Given the description of an element on the screen output the (x, y) to click on. 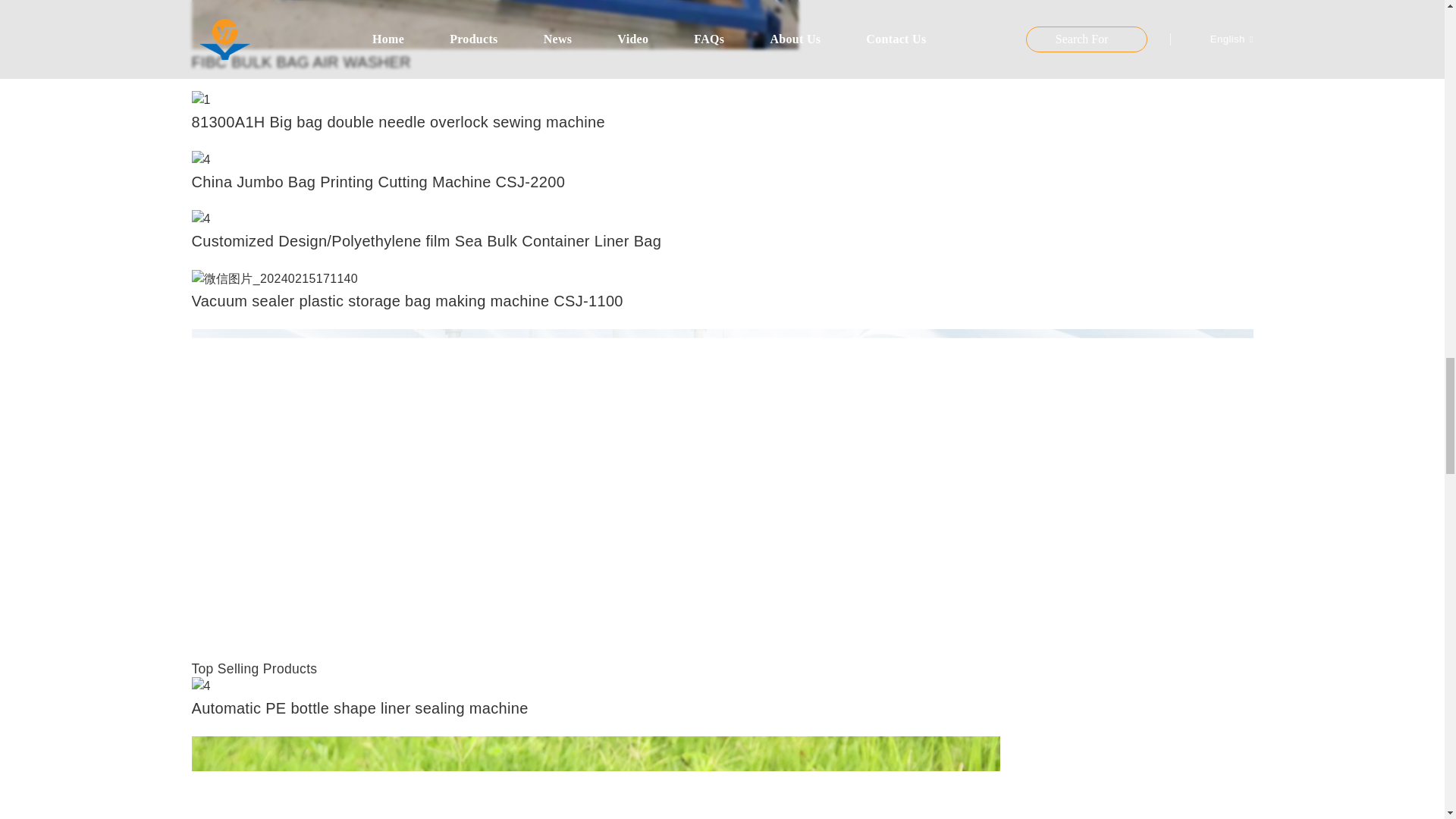
81300A1H Big bag double needle overlock sewing machine (199, 98)
FIBC BULK BAG AIR WASHER  (300, 62)
81300A1H Big bag double needle overlock sewing machine (397, 121)
China Jumbo Bag Printing Cutting Machine CSJ-2200 (199, 158)
